Given the description of an element on the screen output the (x, y) to click on. 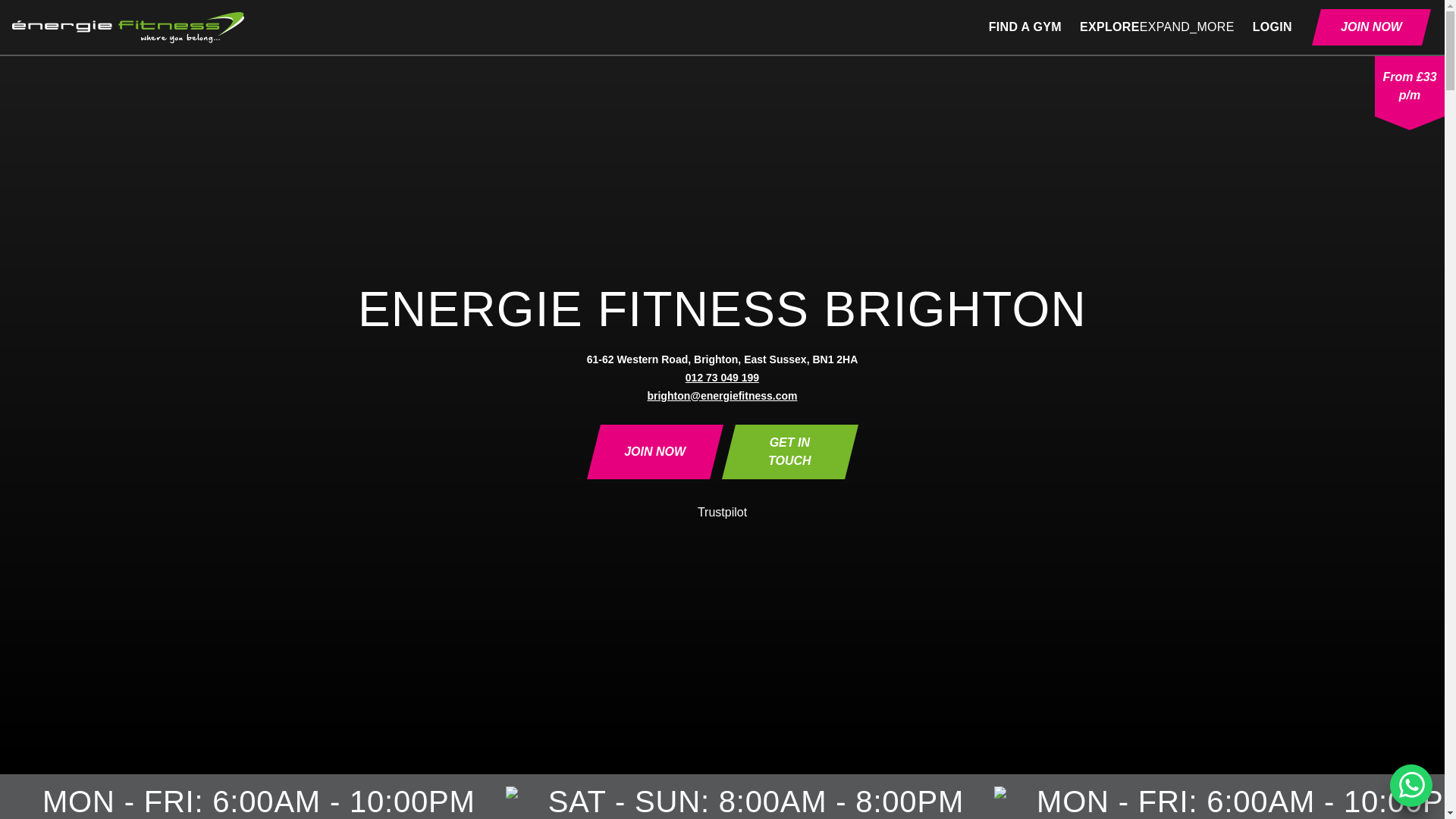
Login (1272, 26)
FIND A GYM (1024, 26)
Trustpilot (721, 511)
012 73 049 199 (721, 377)
JOIN NOW (655, 452)
Find a Gym (1024, 26)
LOGIN (1272, 26)
Explore (1157, 26)
JOIN NOW (1371, 27)
GET IN TOUCH (789, 452)
